Given the description of an element on the screen output the (x, y) to click on. 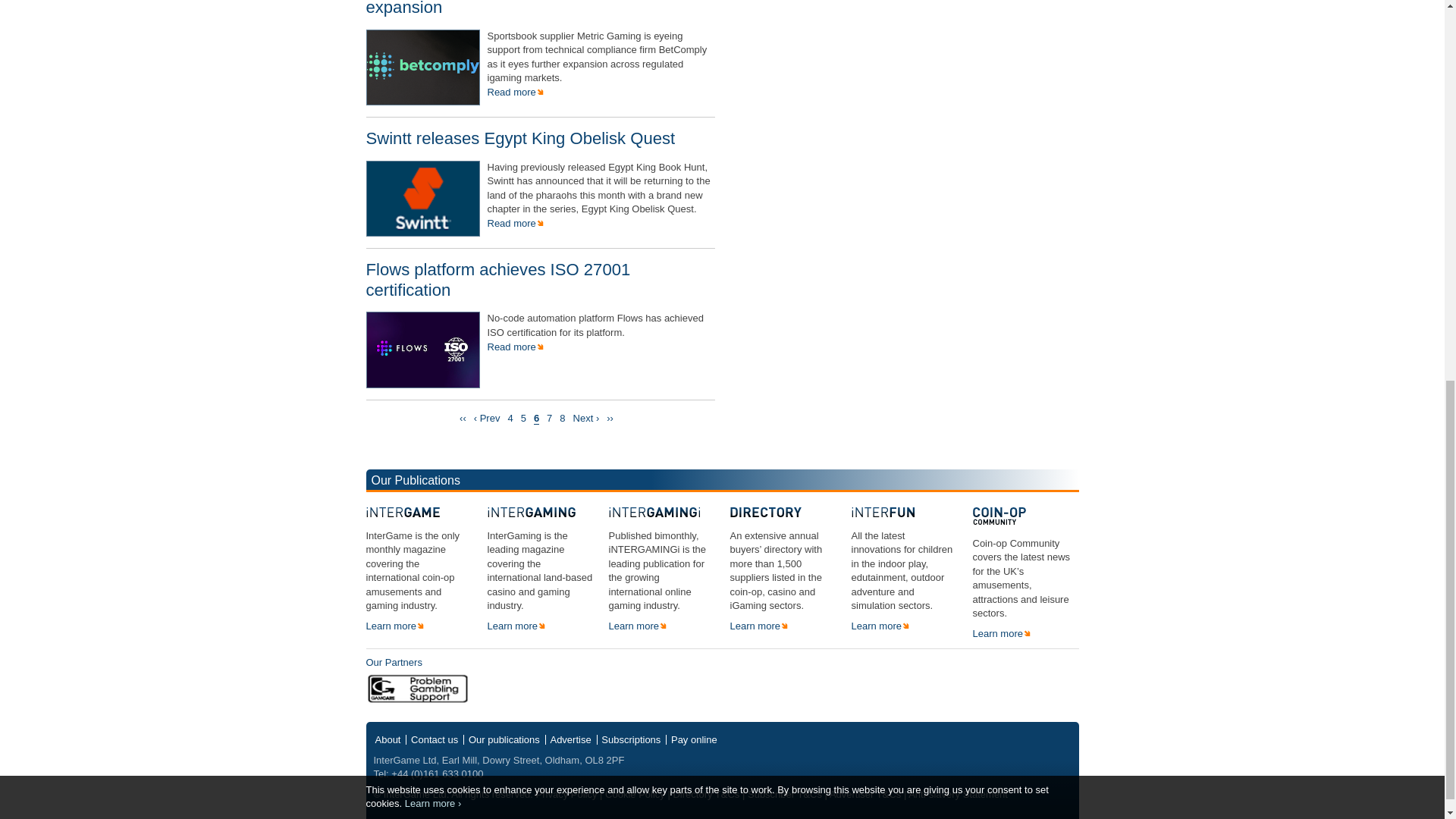
Copyright (408, 794)
Get in touch with Intergame (434, 739)
Swintt releases Egypt King Obelisk Quest (520, 138)
Subscribe to Intergame Magazines (631, 739)
Read more (514, 91)
Privacy policy (565, 794)
Advertise (570, 739)
Metric Gaming taps BetComply to fuel igaming expansion (538, 8)
Privacy policy (432, 79)
Cookie policy (635, 794)
